Given the description of an element on the screen output the (x, y) to click on. 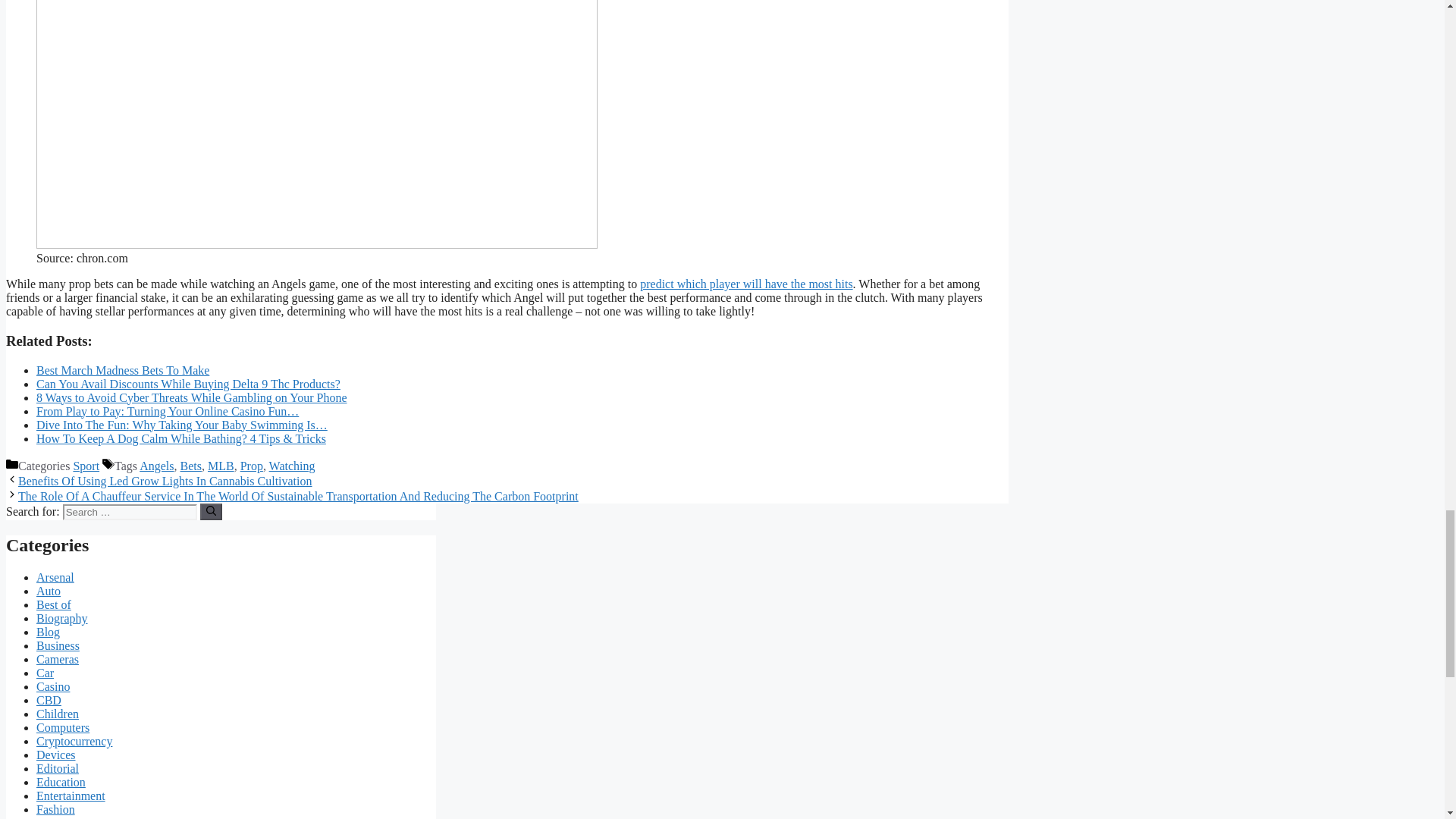
Casino (52, 686)
Can You Avail Discounts While Buying Delta 9 Thc Products? (188, 383)
Benefits Of Using Led Grow Lights In Cannabis Cultivation (165, 481)
Business (58, 645)
Sport (85, 465)
Angels (156, 465)
Bets (191, 465)
Best March Madness Bets To Make (122, 369)
Prop (251, 465)
Watching (292, 465)
Search for: (129, 512)
CBD (48, 699)
Best of (53, 604)
predict which player will have the most hits (745, 283)
